Given the description of an element on the screen output the (x, y) to click on. 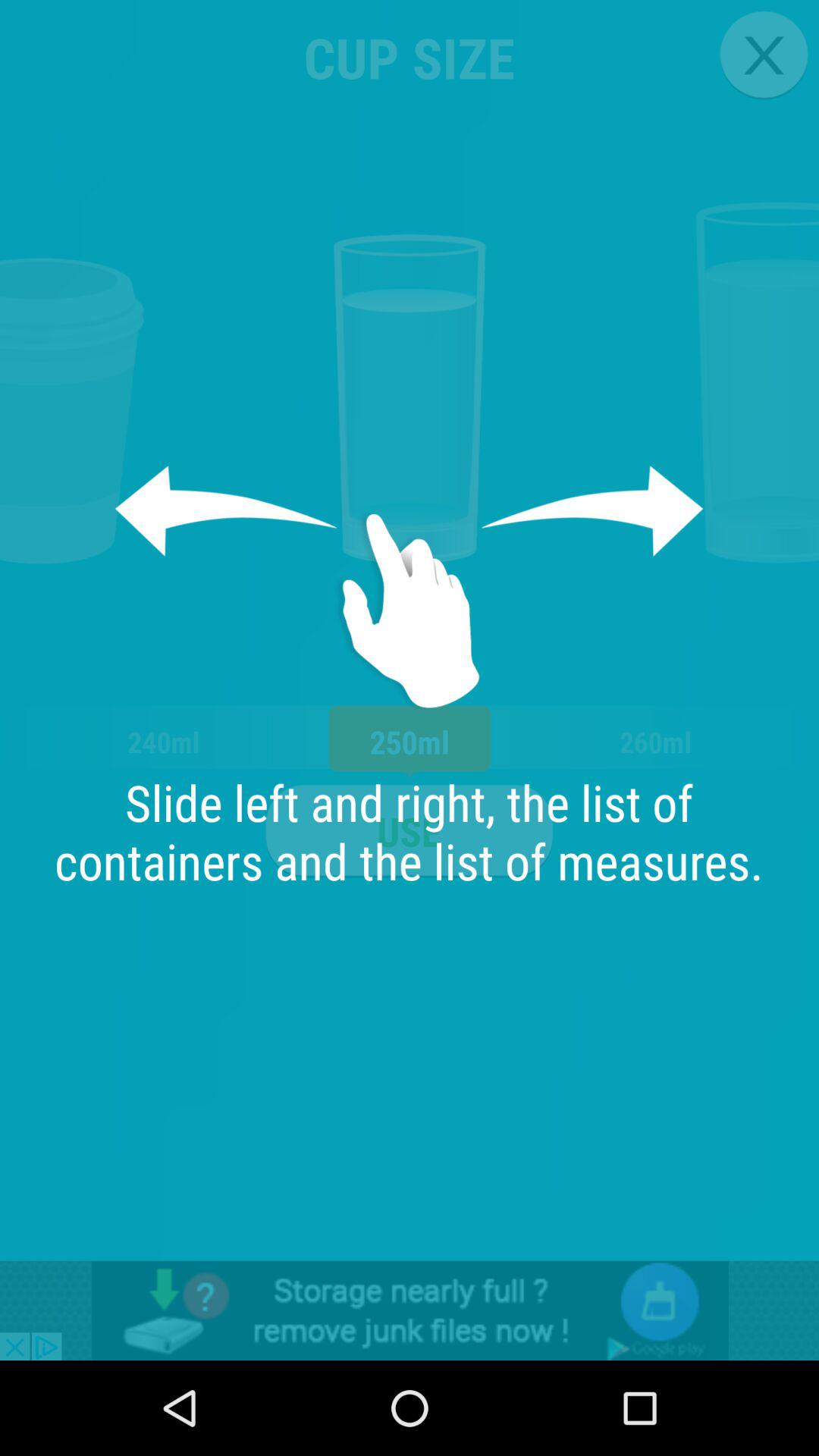
tap item to the left of 260ml item (408, 830)
